Given the description of an element on the screen output the (x, y) to click on. 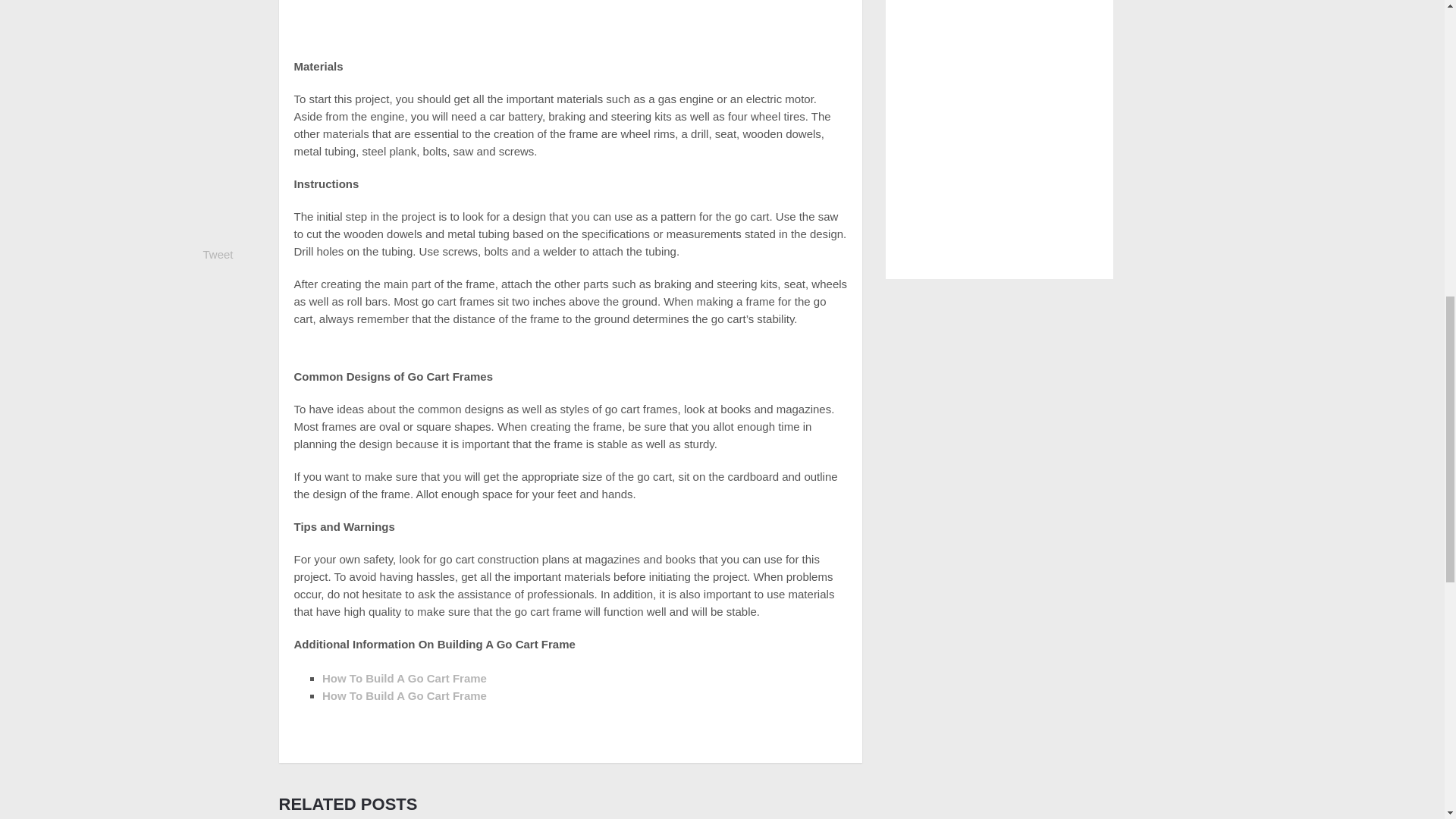
How To Build A Go Cart Frame (403, 695)
How To Build A Go Cart Frame (403, 677)
Advertisement (569, 22)
